Given the description of an element on the screen output the (x, y) to click on. 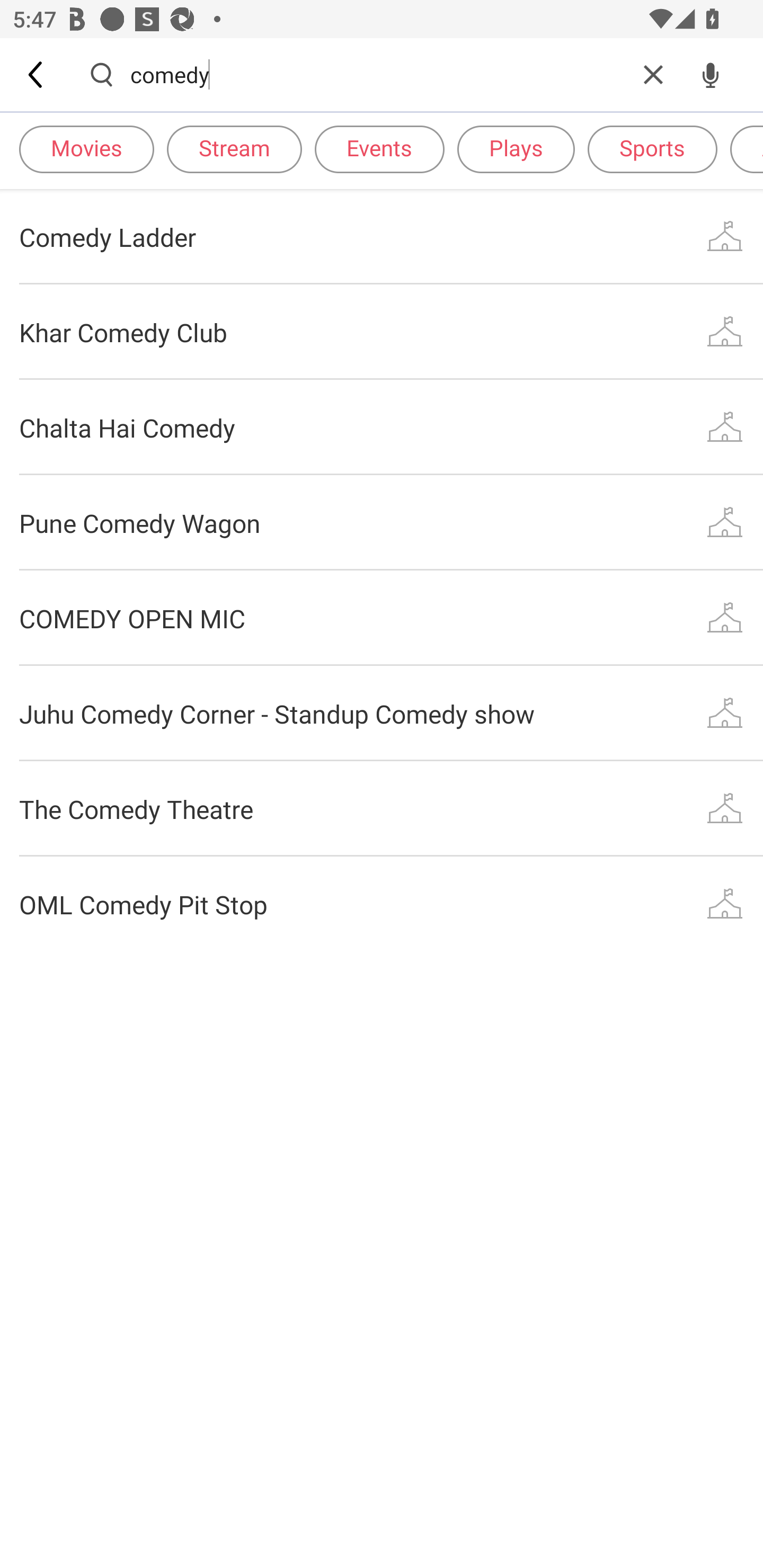
Back (36, 74)
comedy (377, 74)
Clear (653, 74)
Movies (86, 148)
Stream (234, 148)
Events (379, 148)
Plays (515, 148)
Sports (652, 148)
Comedy Ladder (381, 236)
Khar Comedy Club (381, 331)
Chalta Hai Comedy (381, 427)
Pune Comedy Wagon (381, 522)
COMEDY OPEN MIC (381, 618)
Juhu Comedy Corner - Standup Comedy show (381, 713)
The Comedy Theatre  (381, 808)
OML Comedy Pit Stop (381, 903)
